Given the description of an element on the screen output the (x, y) to click on. 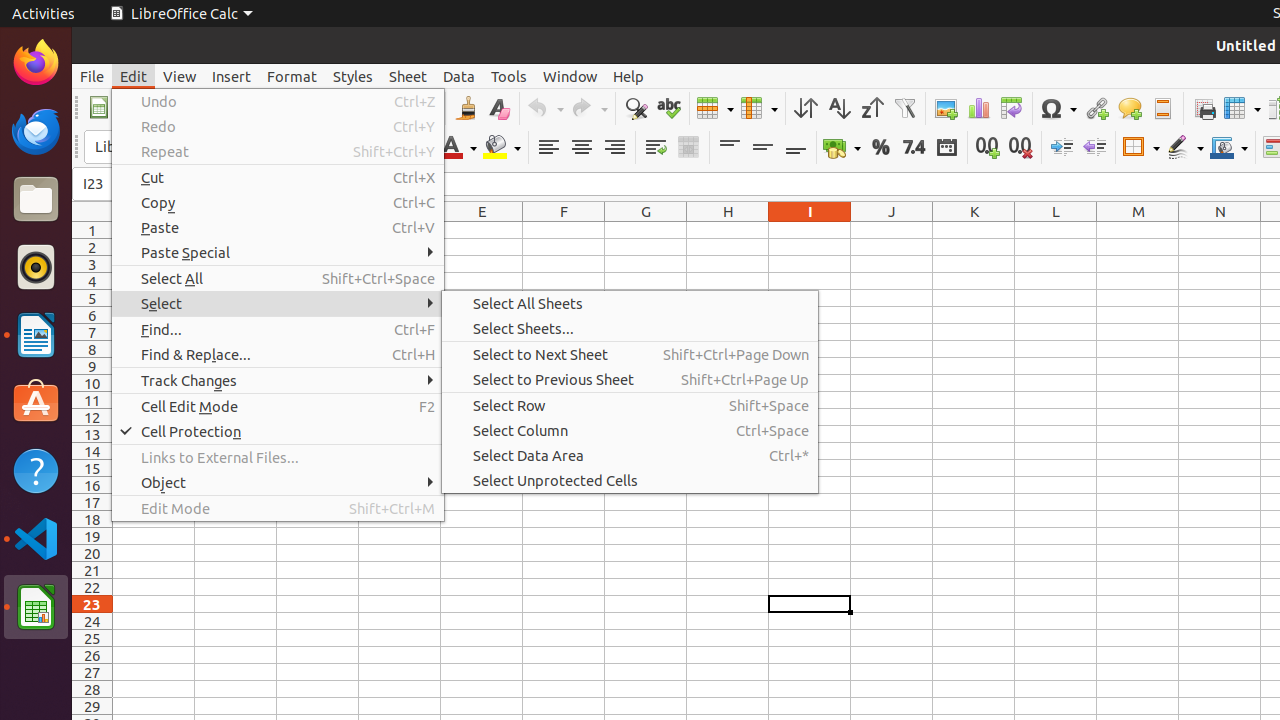
Print Area Element type: push-button (1203, 108)
Align Center Element type: push-button (581, 147)
Pivot Table Element type: push-button (1011, 108)
